Given the description of an element on the screen output the (x, y) to click on. 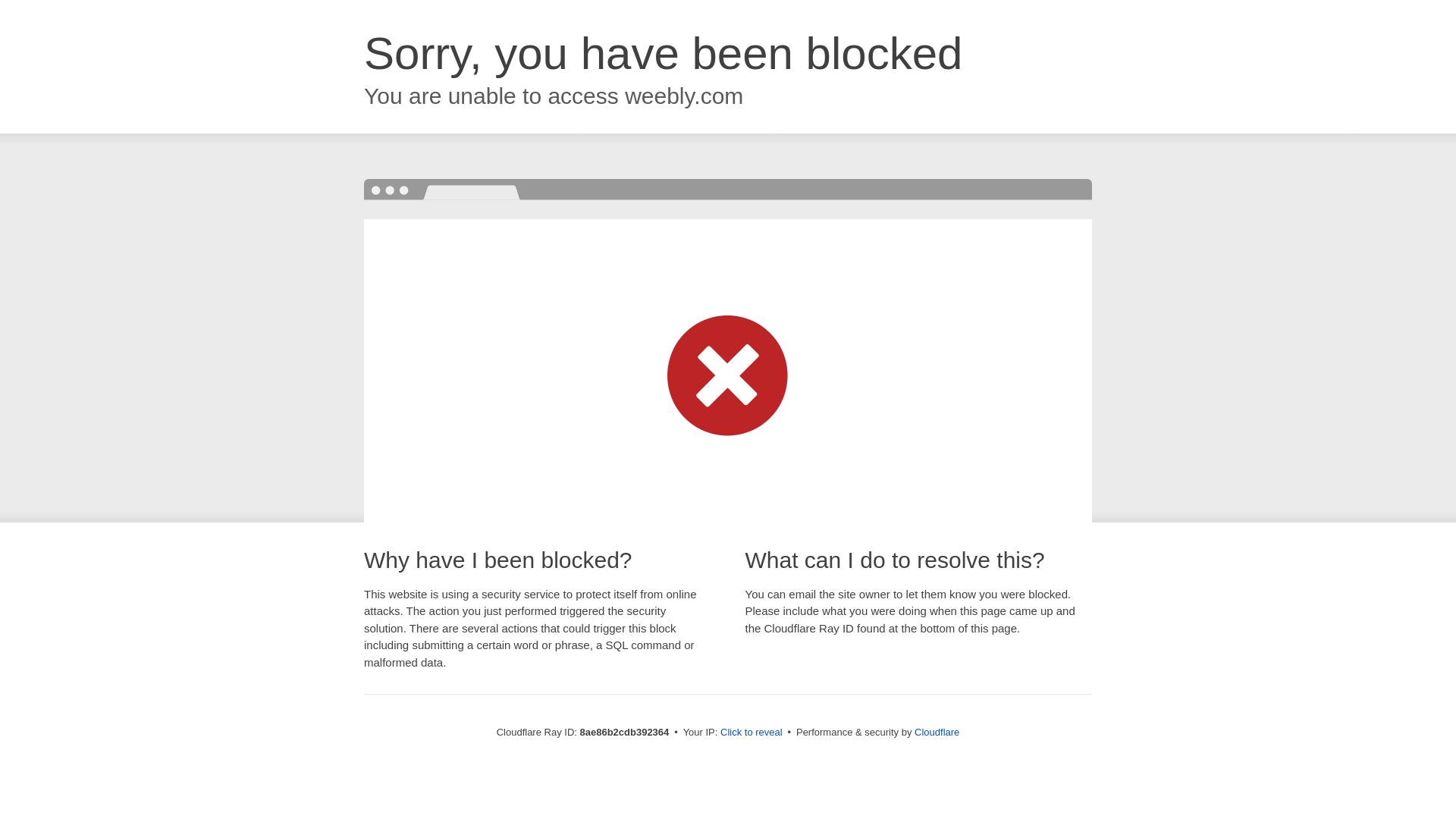
Cloudflare (936, 731)
Click to reveal (751, 732)
